Given the description of an element on the screen output the (x, y) to click on. 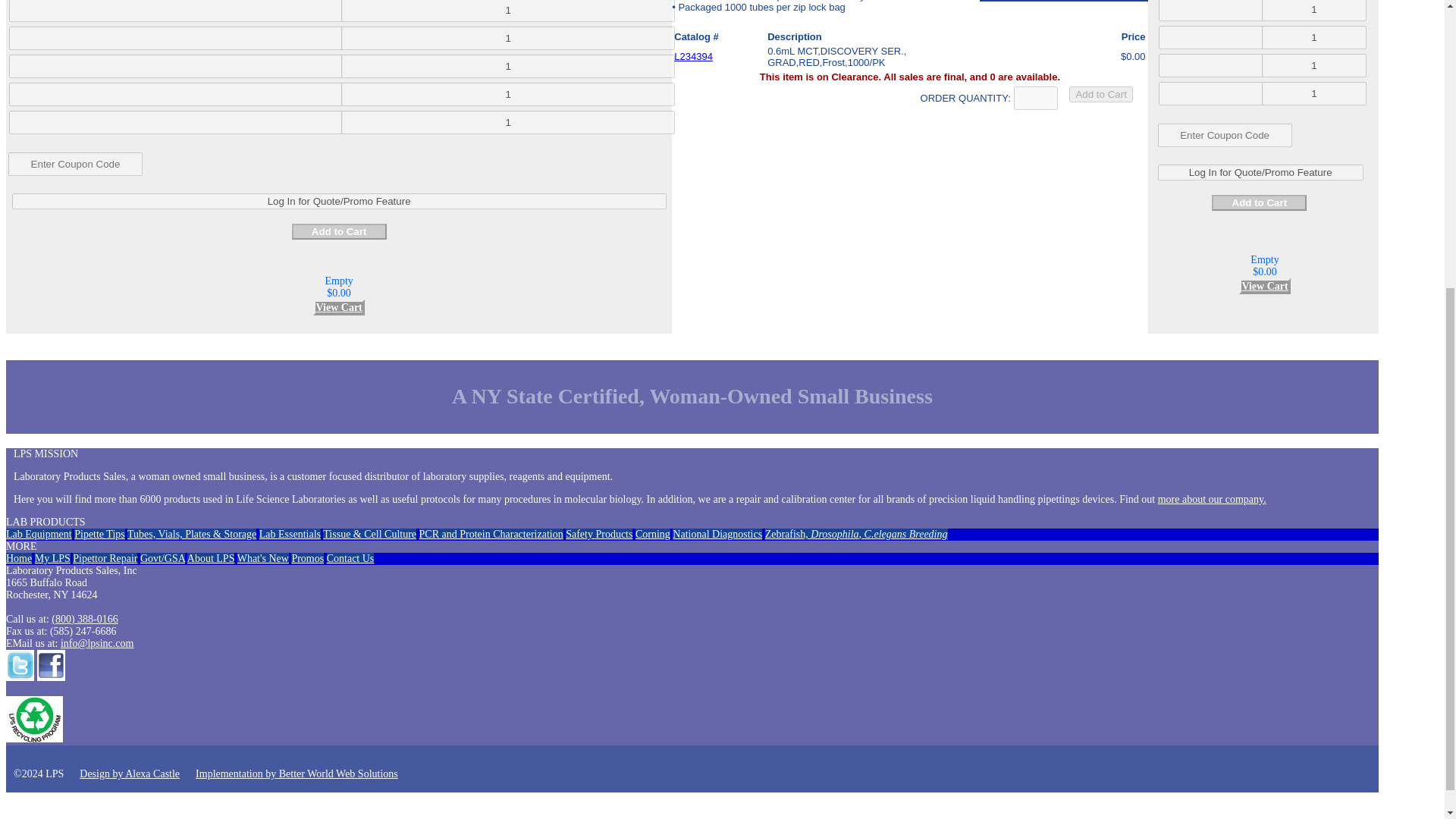
Add to Cart (1258, 202)
L234394 (693, 56)
1 (507, 37)
View Cart (1264, 286)
Add to Cart (1100, 94)
View Cart (338, 307)
more about our company. (1211, 499)
Add to Cart (1100, 94)
1 (507, 11)
1 (507, 94)
1 (507, 122)
Add to Cart (339, 231)
1 (507, 65)
